Given the description of an element on the screen output the (x, y) to click on. 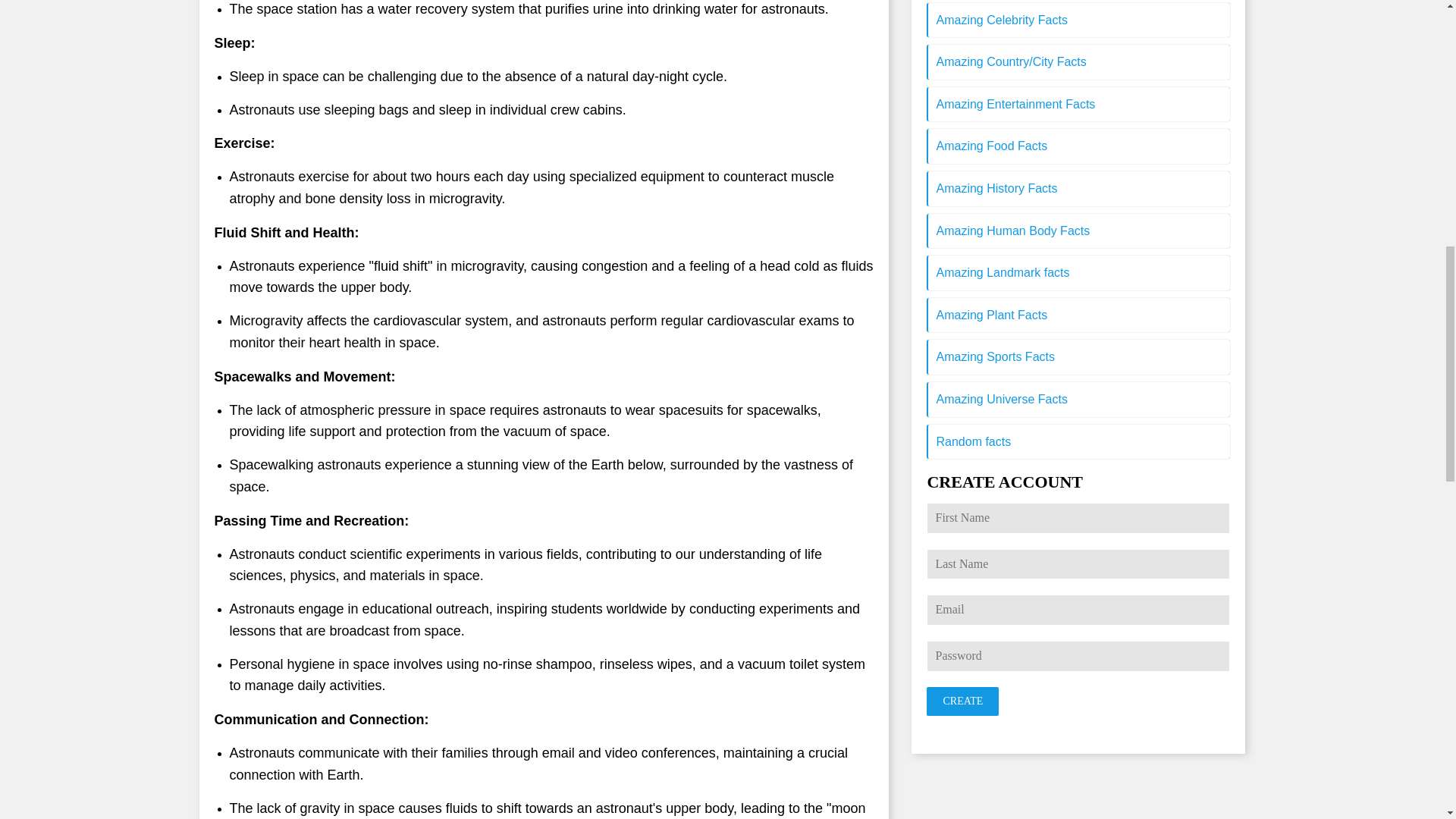
Create (962, 701)
